Given the description of an element on the screen output the (x, y) to click on. 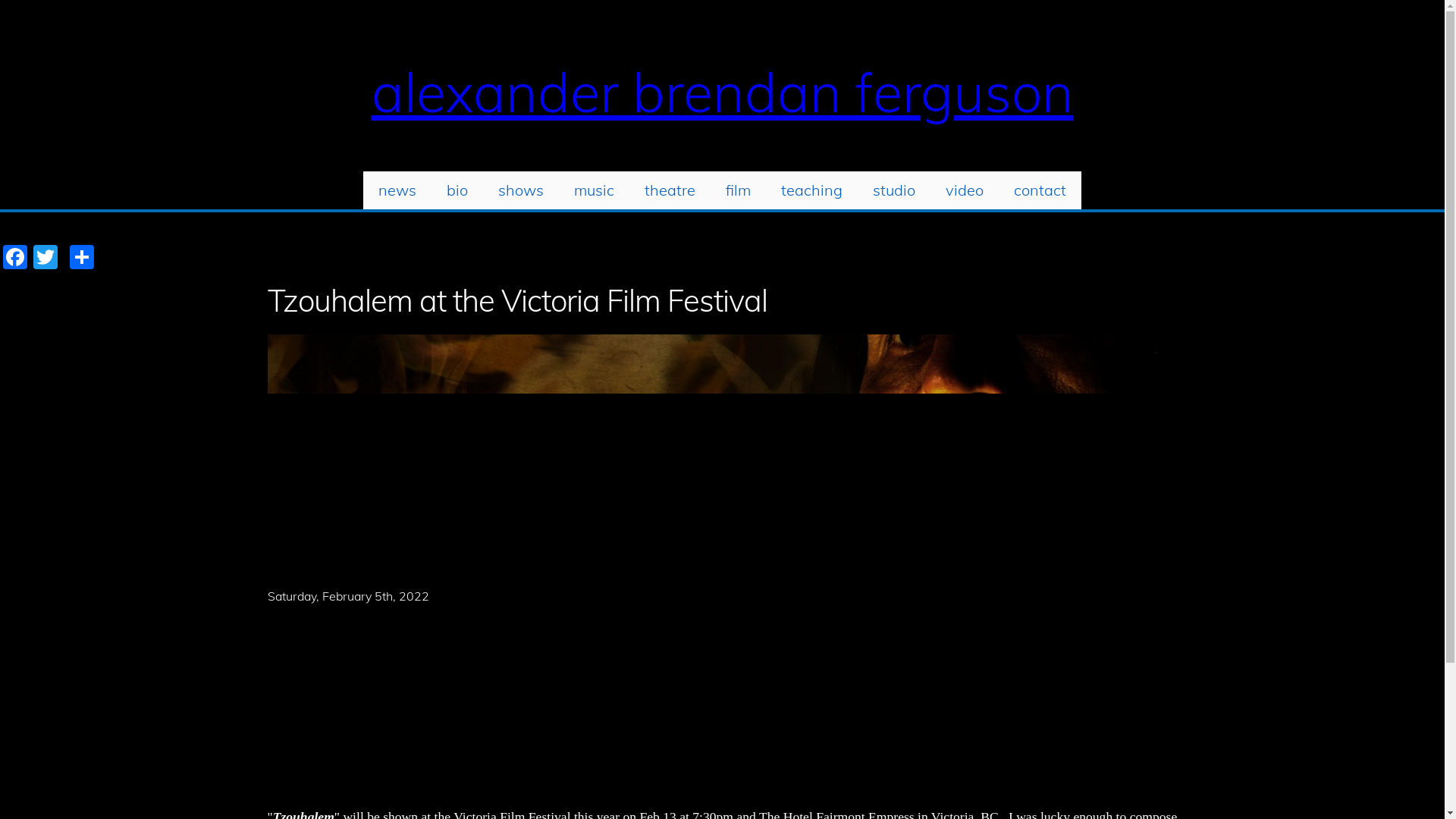
Facebook Element type: text (15, 255)
theatre Element type: text (669, 190)
Skip to main content Element type: text (0, 0)
Share Element type: text (81, 255)
alexander brendan ferguson Element type: text (722, 91)
studio Element type: text (893, 190)
news Element type: text (397, 190)
music Element type: text (593, 190)
video Element type: text (964, 190)
contact Element type: text (1039, 190)
teaching Element type: text (811, 190)
shows Element type: text (520, 190)
bio Element type: text (457, 190)
Twitter Element type: text (45, 255)
Tzouhalem Element type: hover (721, 453)
film Element type: text (737, 190)
